Given the description of an element on the screen output the (x, y) to click on. 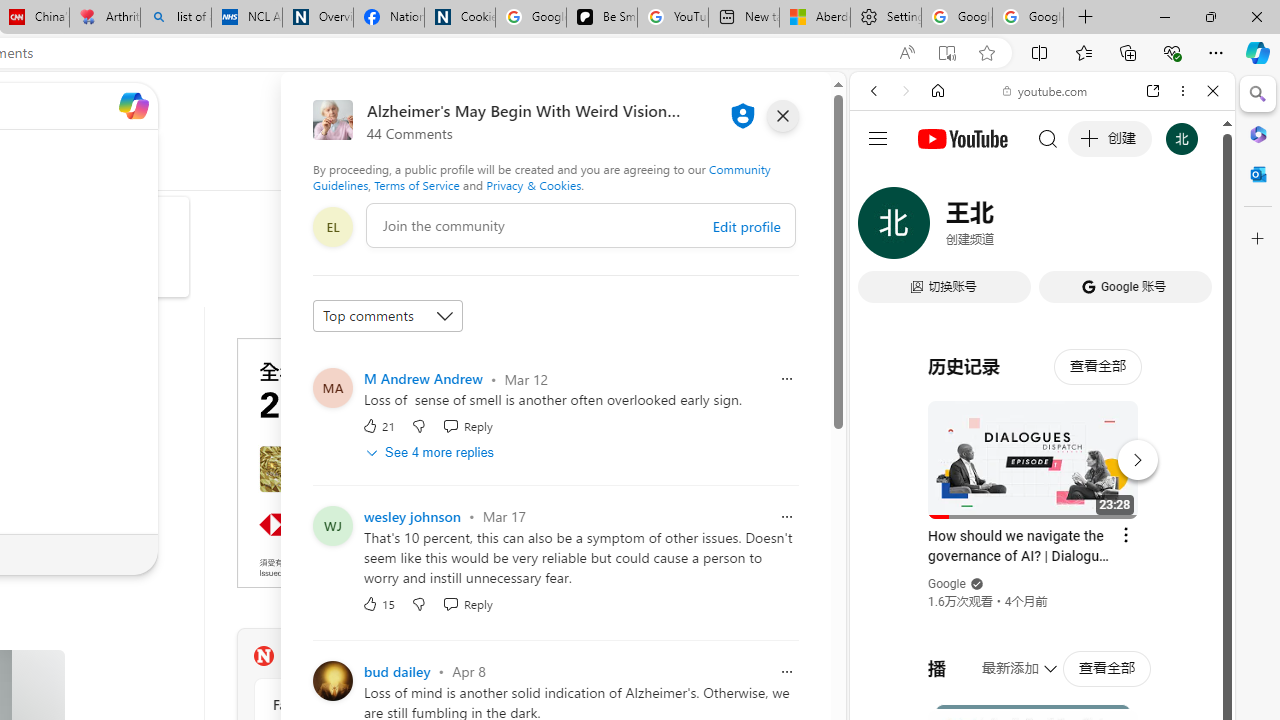
Search Filter, IMAGES (939, 228)
Music (1042, 543)
Terms of Service (416, 184)
close (782, 115)
comment-box (581, 225)
Music (1042, 543)
Arthritis: Ask Health Professionals (104, 17)
15 Like (378, 603)
